Given the description of an element on the screen output the (x, y) to click on. 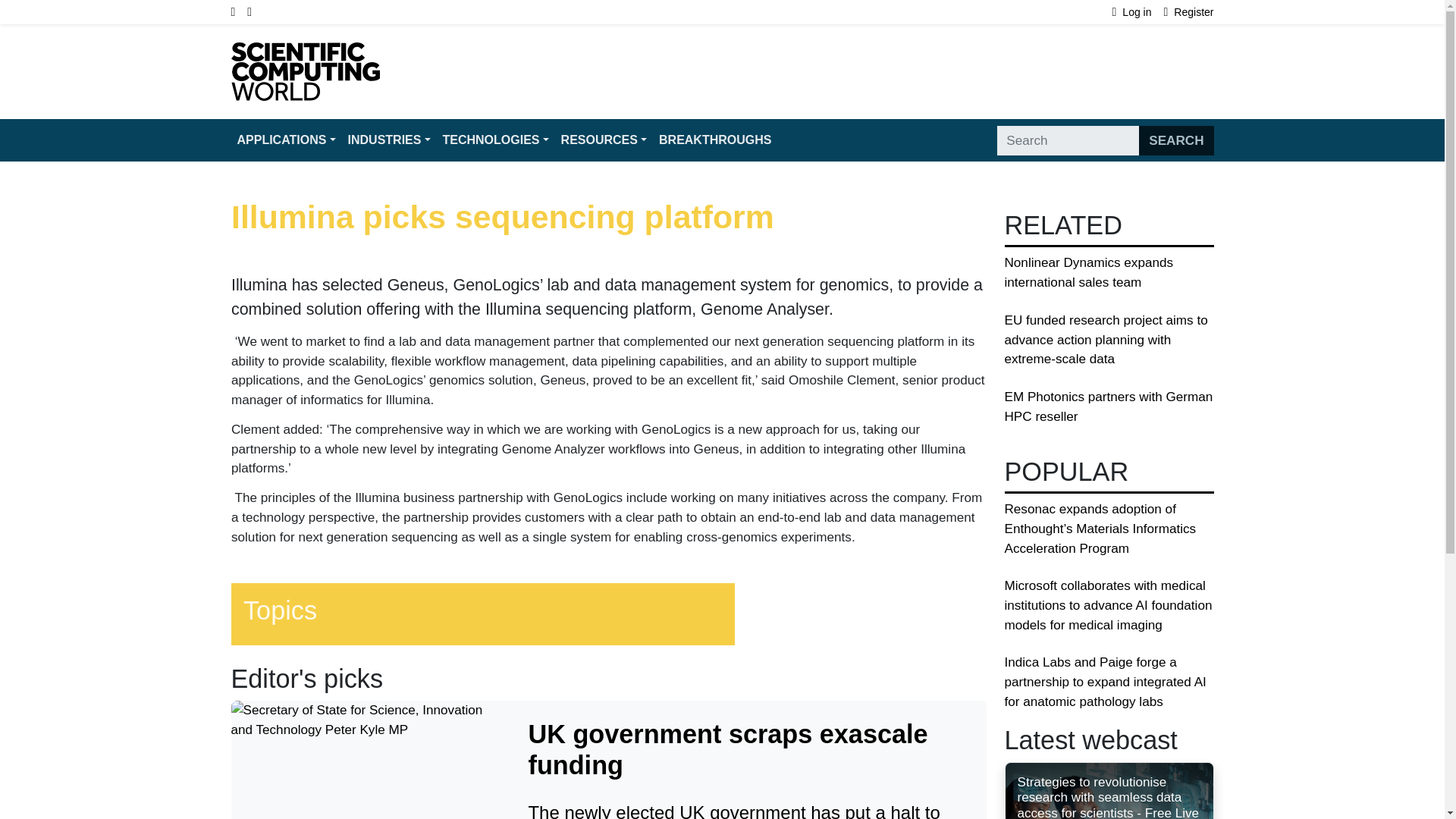
Nonlinear Dynamics expands international sales team (1088, 272)
Enter the terms you wish to search for. (1067, 141)
BREAKTHROUGHS (714, 140)
Register (1188, 12)
Home (304, 51)
EM Photonics partners with German HPC reseller (1108, 406)
SEARCH (1175, 141)
